Given the description of an element on the screen output the (x, y) to click on. 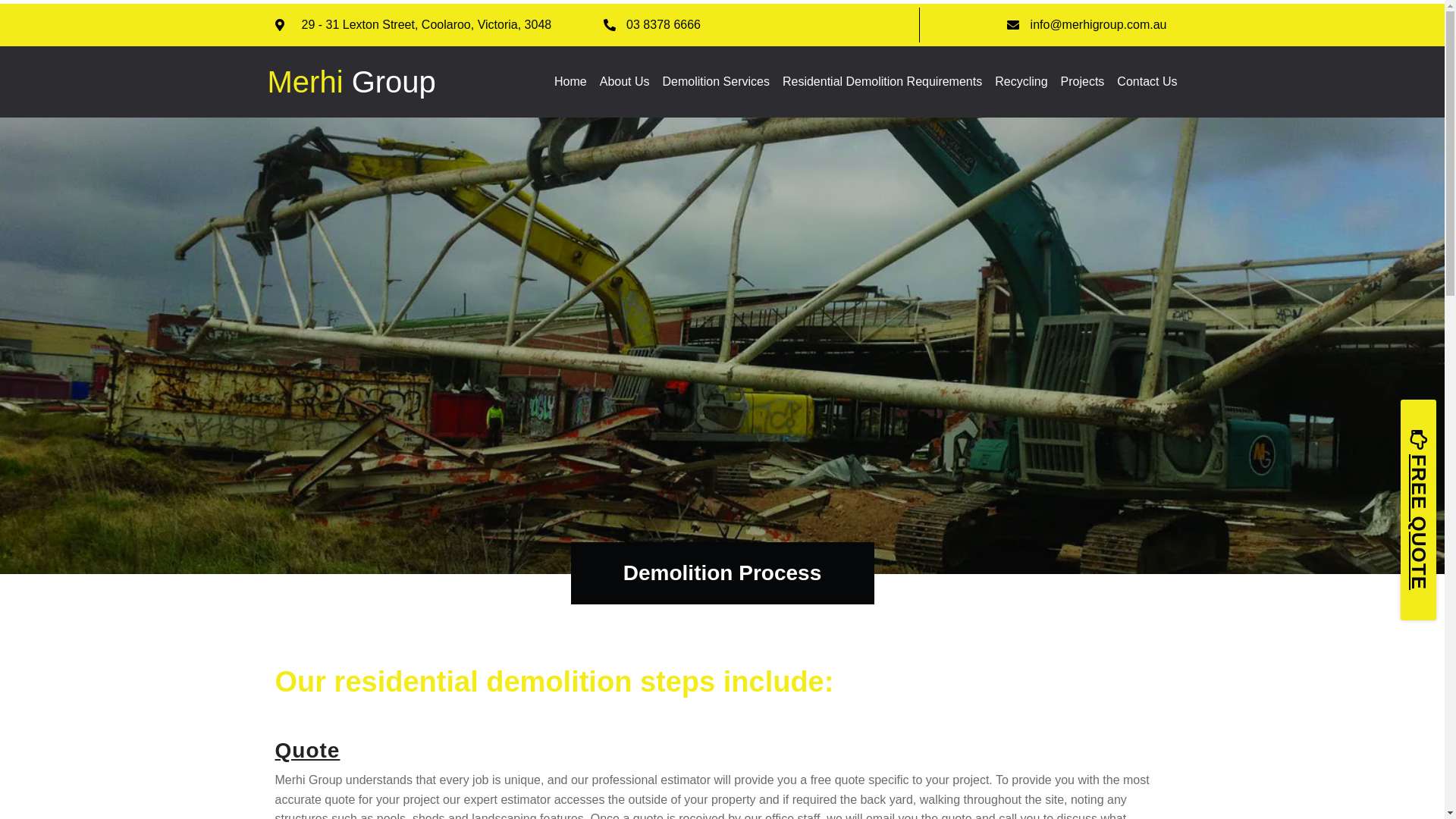
Demolition Services Element type: text (715, 81)
Projects Element type: text (1082, 81)
info@merhigroup.com.au Element type: text (1085, 24)
About Us Element type: text (624, 81)
Home Element type: text (570, 81)
Merhi Group Element type: text (350, 81)
Residential Demolition Requirements Element type: text (882, 81)
Recycling Element type: text (1020, 81)
29 - 31 Lexton Street, Coolaroo, Victoria, 3048 Element type: text (412, 24)
Contact Us Element type: text (1146, 81)
03 8378 6666 Element type: text (651, 24)
